Given the description of an element on the screen output the (x, y) to click on. 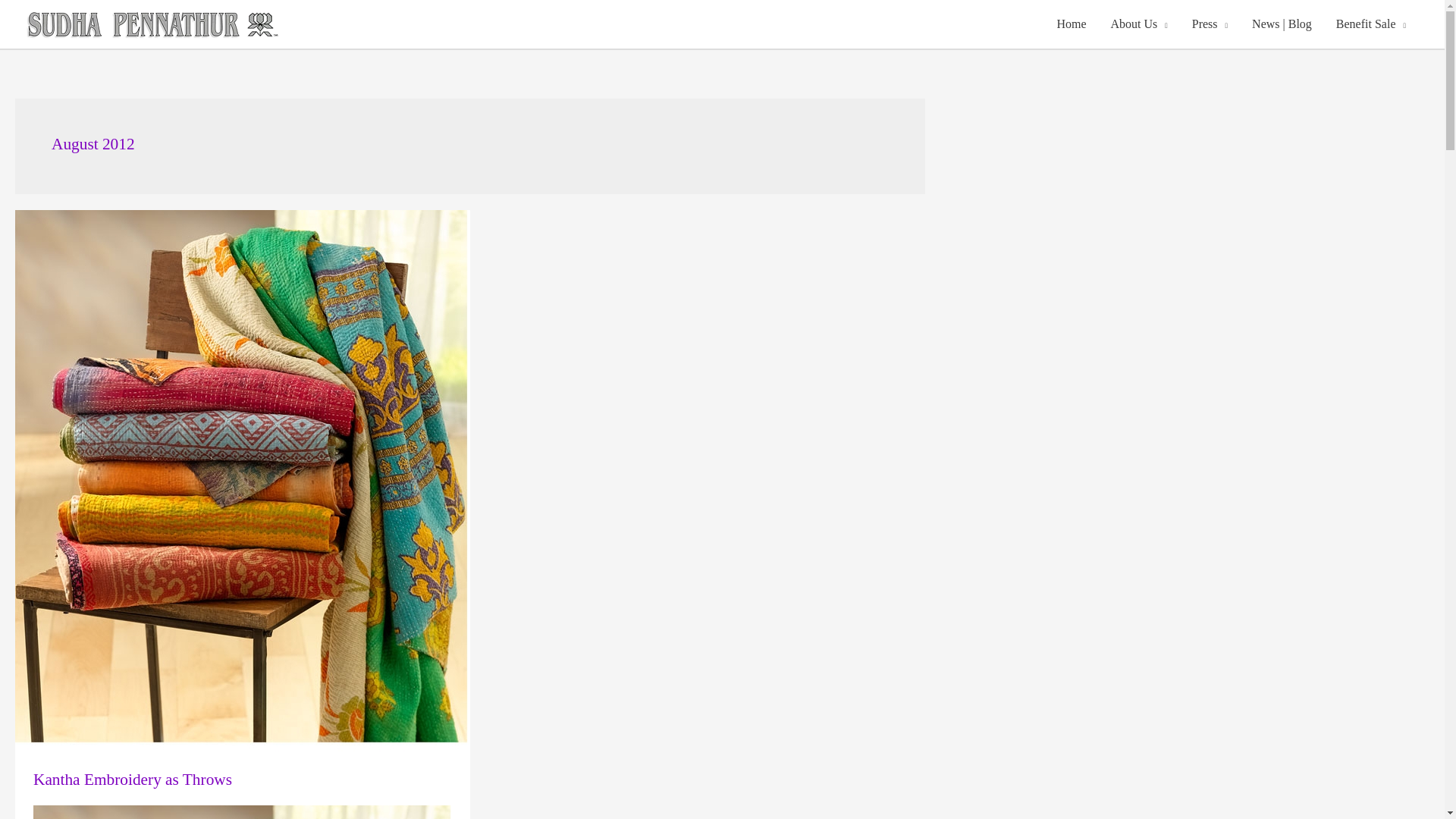
Home (1070, 24)
Benefit Sale (1370, 24)
Press (1209, 24)
Clipboard01 (242, 812)
About Us (1138, 24)
